Given the description of an element on the screen output the (x, y) to click on. 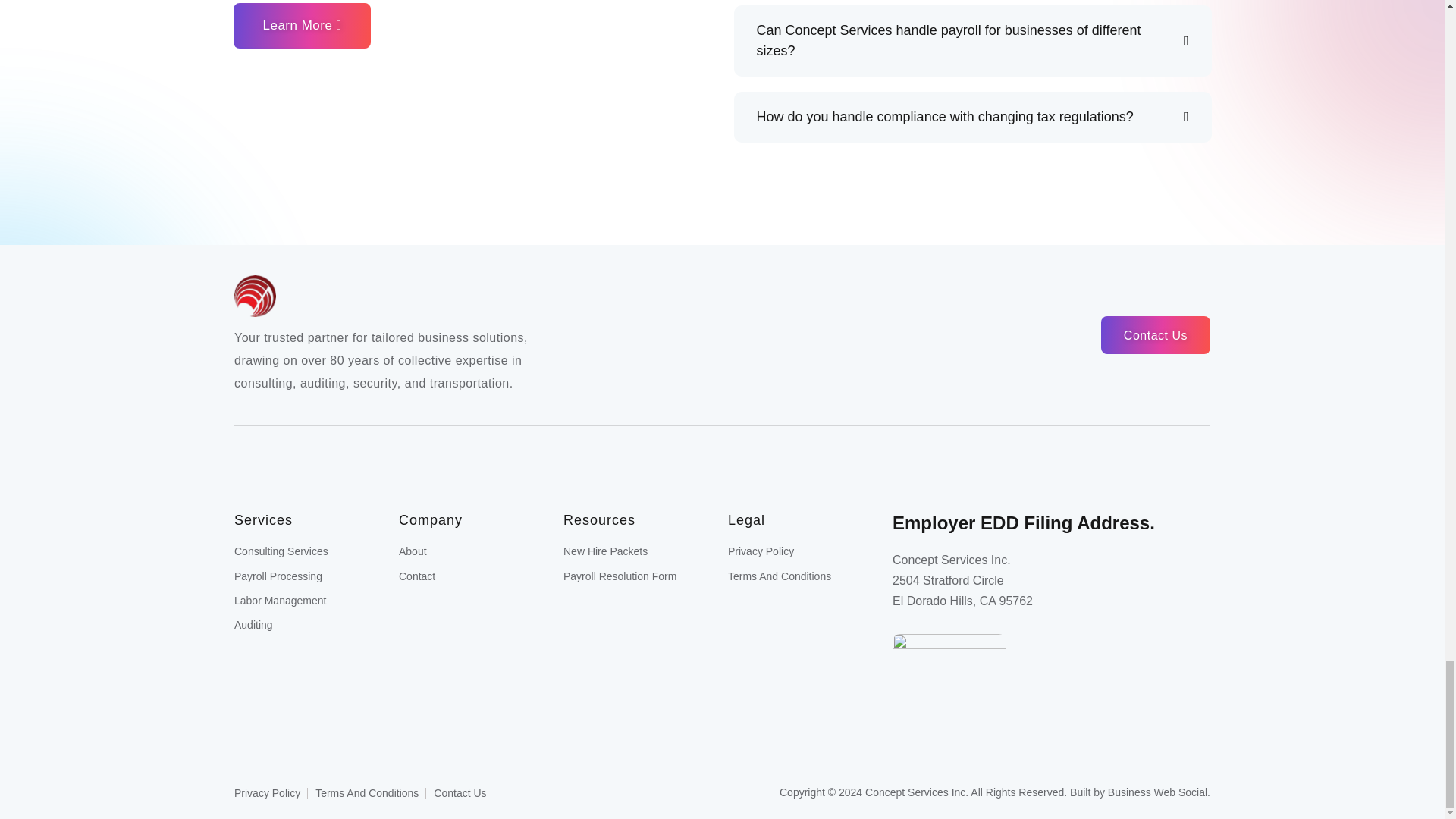
Concept Services Inc. (559, 295)
Contact (416, 576)
Payroll Processing (277, 576)
Consulting Services (281, 551)
Learn More (301, 25)
New Hire Packets (605, 551)
Labor Management (280, 600)
How do you handle compliance with changing tax regulations? (973, 117)
Contact Us (1154, 334)
Auditing (253, 624)
About (412, 551)
